Given the description of an element on the screen output the (x, y) to click on. 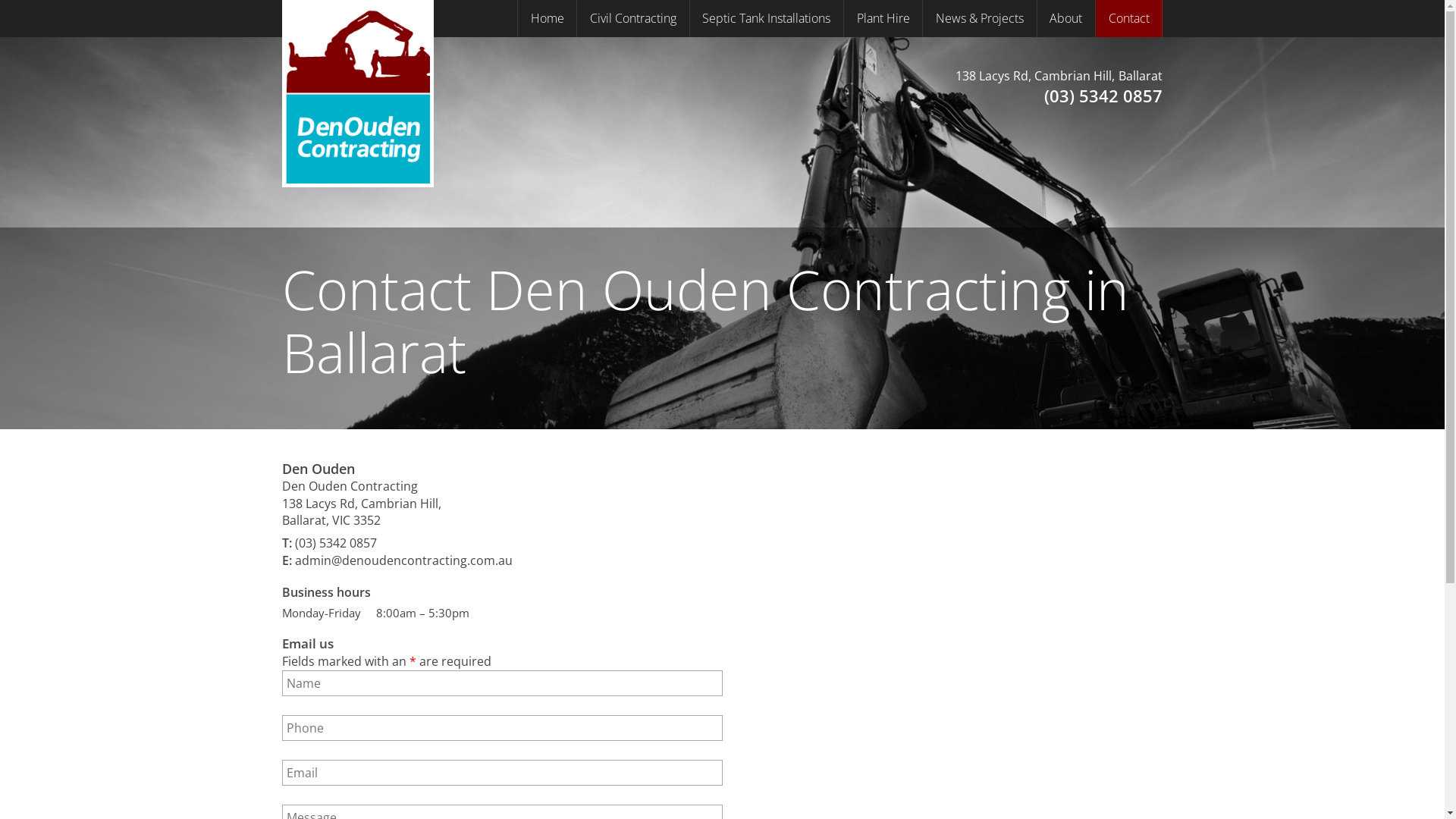
Septic Tank Installations Element type: text (766, 17)
Civil Contracting Element type: text (632, 17)
Home Element type: text (546, 17)
Contact Element type: text (1128, 17)
News & Projects Element type: text (979, 17)
Plant Hire Element type: text (882, 17)
About Element type: text (1066, 17)
